Given the description of an element on the screen output the (x, y) to click on. 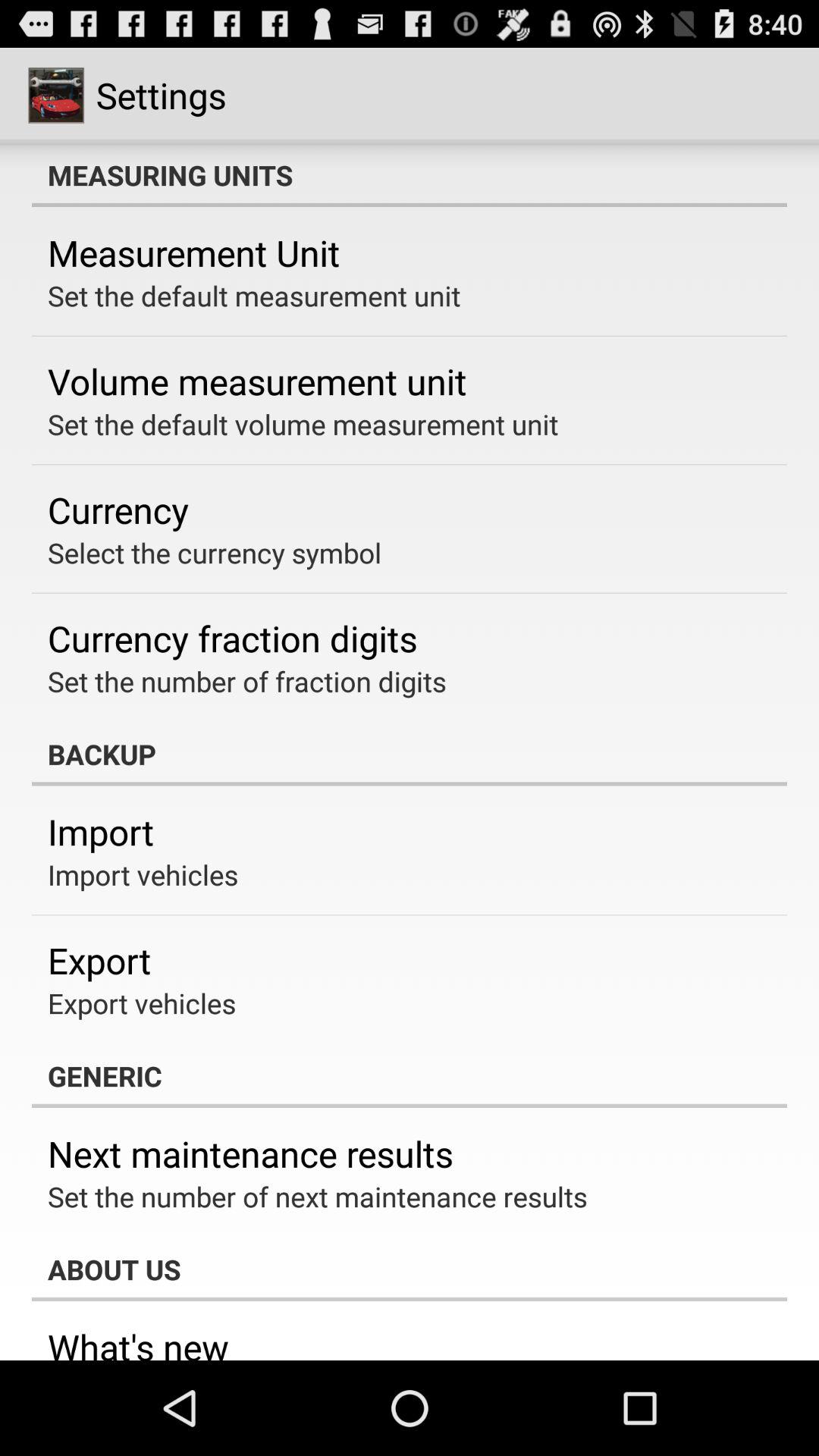
tap icon below the about us item (137, 1341)
